Given the description of an element on the screen output the (x, y) to click on. 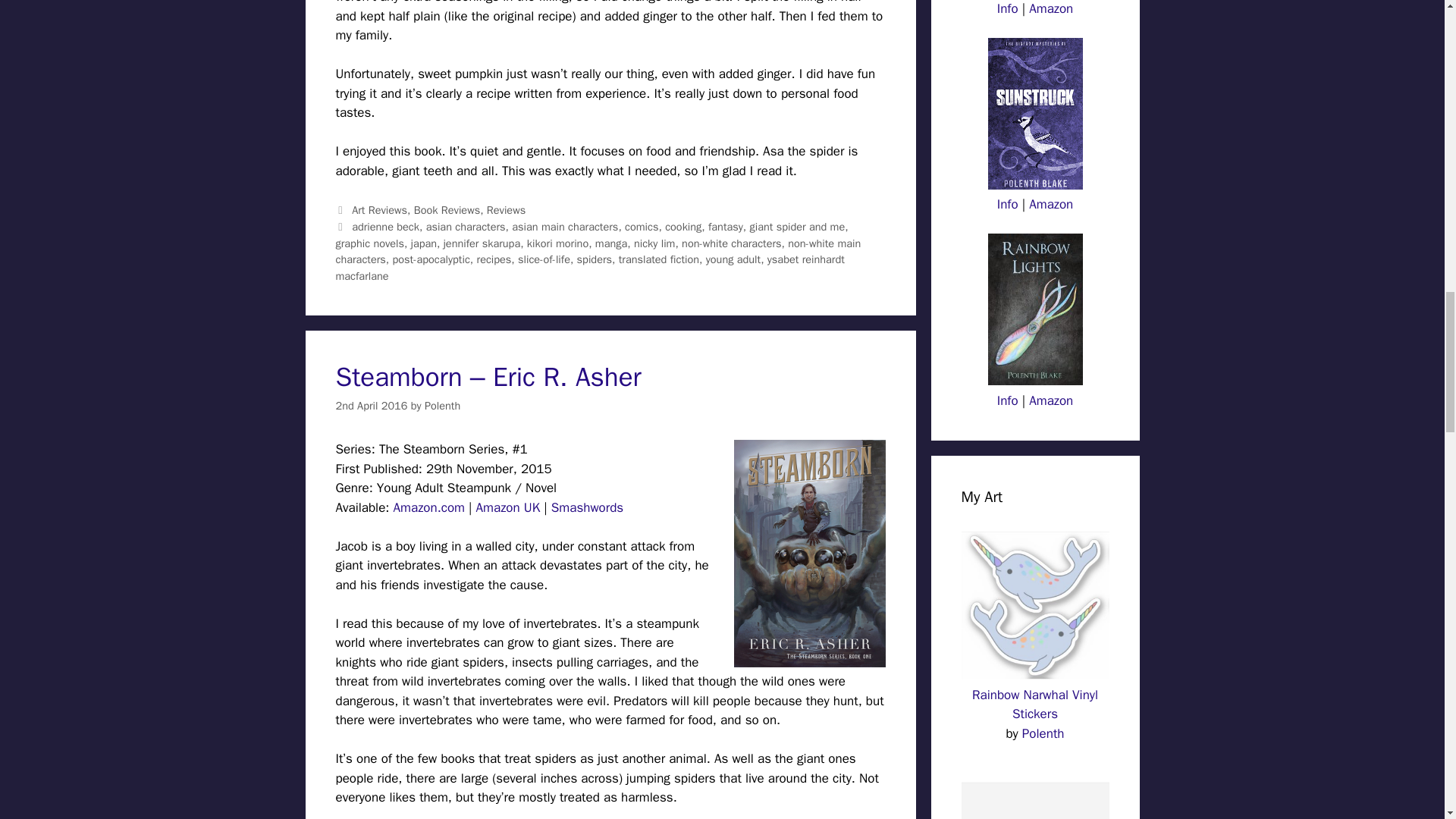
nicky lim (654, 243)
cooking (683, 226)
non-white characters (730, 243)
Book Reviews (446, 210)
translated fiction (658, 259)
non-white main characters (597, 251)
comics (641, 226)
View all posts by Polenth (442, 405)
post-apocalyptic (429, 259)
japan (423, 243)
